Given the description of an element on the screen output the (x, y) to click on. 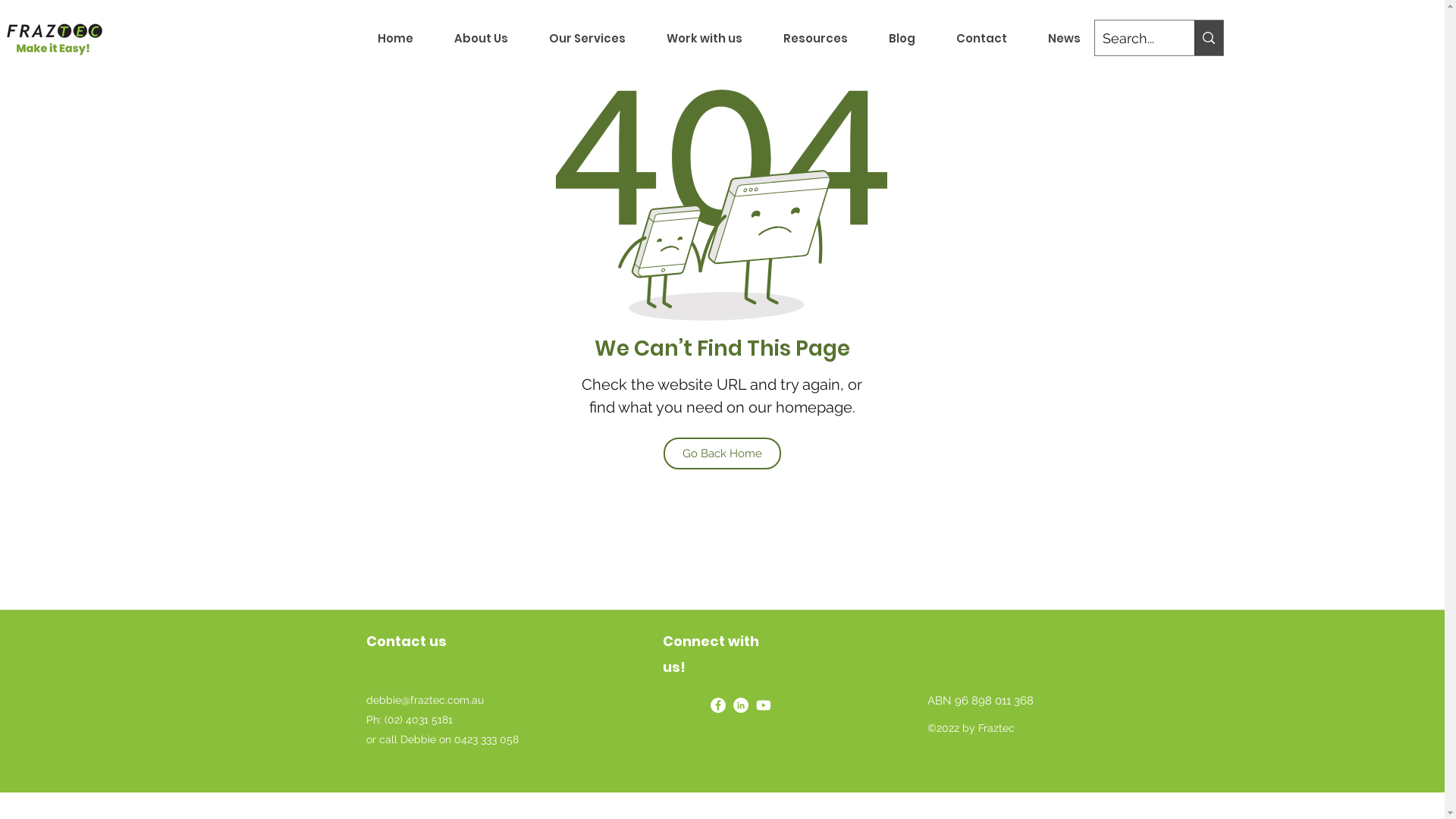
Home Element type: text (395, 38)
Go Back Home Element type: text (721, 453)
Resources Element type: text (815, 38)
Blog Element type: text (901, 38)
Contact Element type: text (981, 38)
Work with us Element type: text (704, 38)
About Us Element type: text (480, 38)
fraztec_make_it_easy_logo_highRes.png Element type: hover (53, 38)
Our Services Element type: text (586, 38)
News Element type: text (1063, 38)
debbie@fraztec.com.au Element type: text (424, 699)
